Given the description of an element on the screen output the (x, y) to click on. 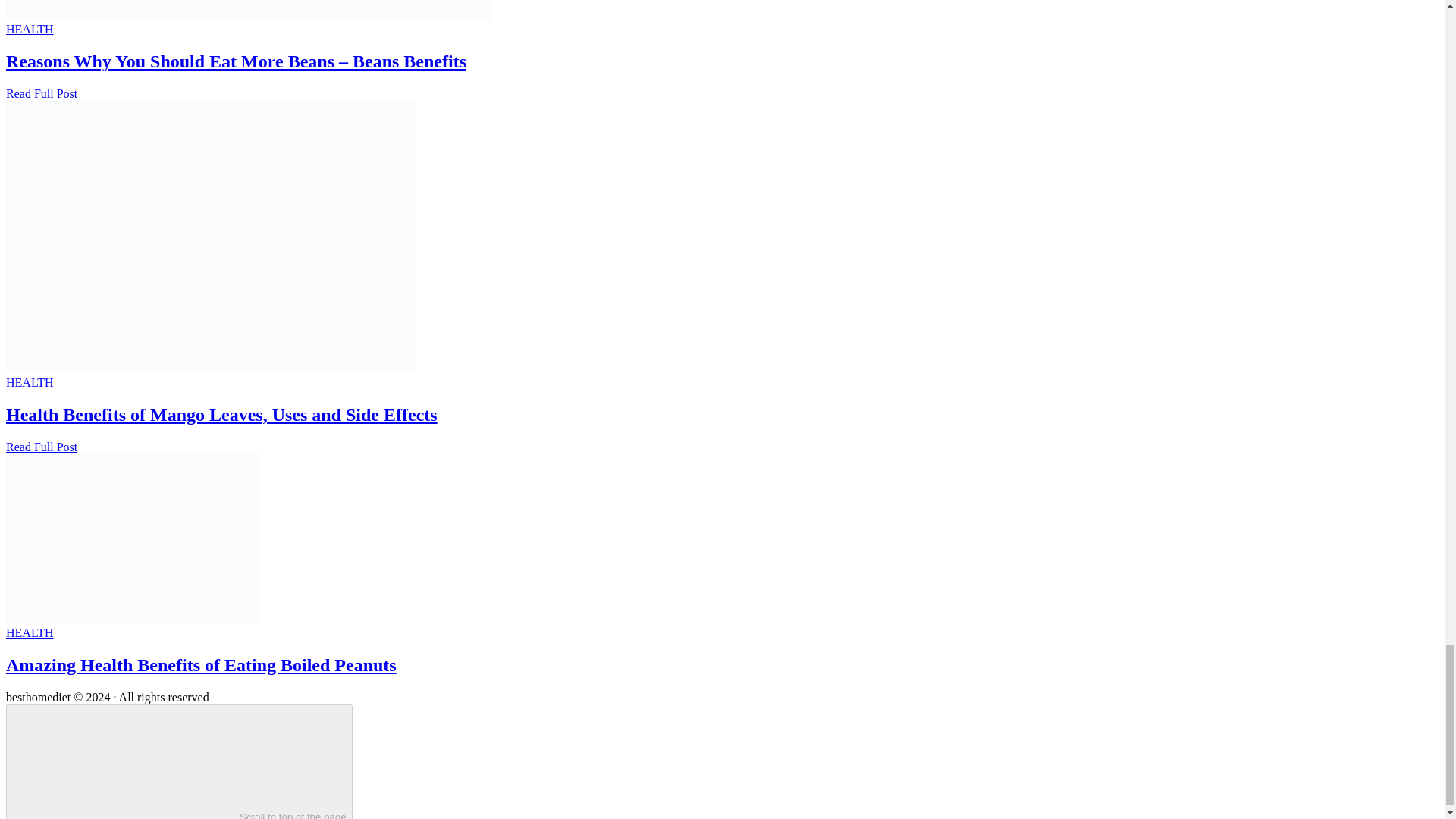
HEALTH (29, 29)
